Given the description of an element on the screen output the (x, y) to click on. 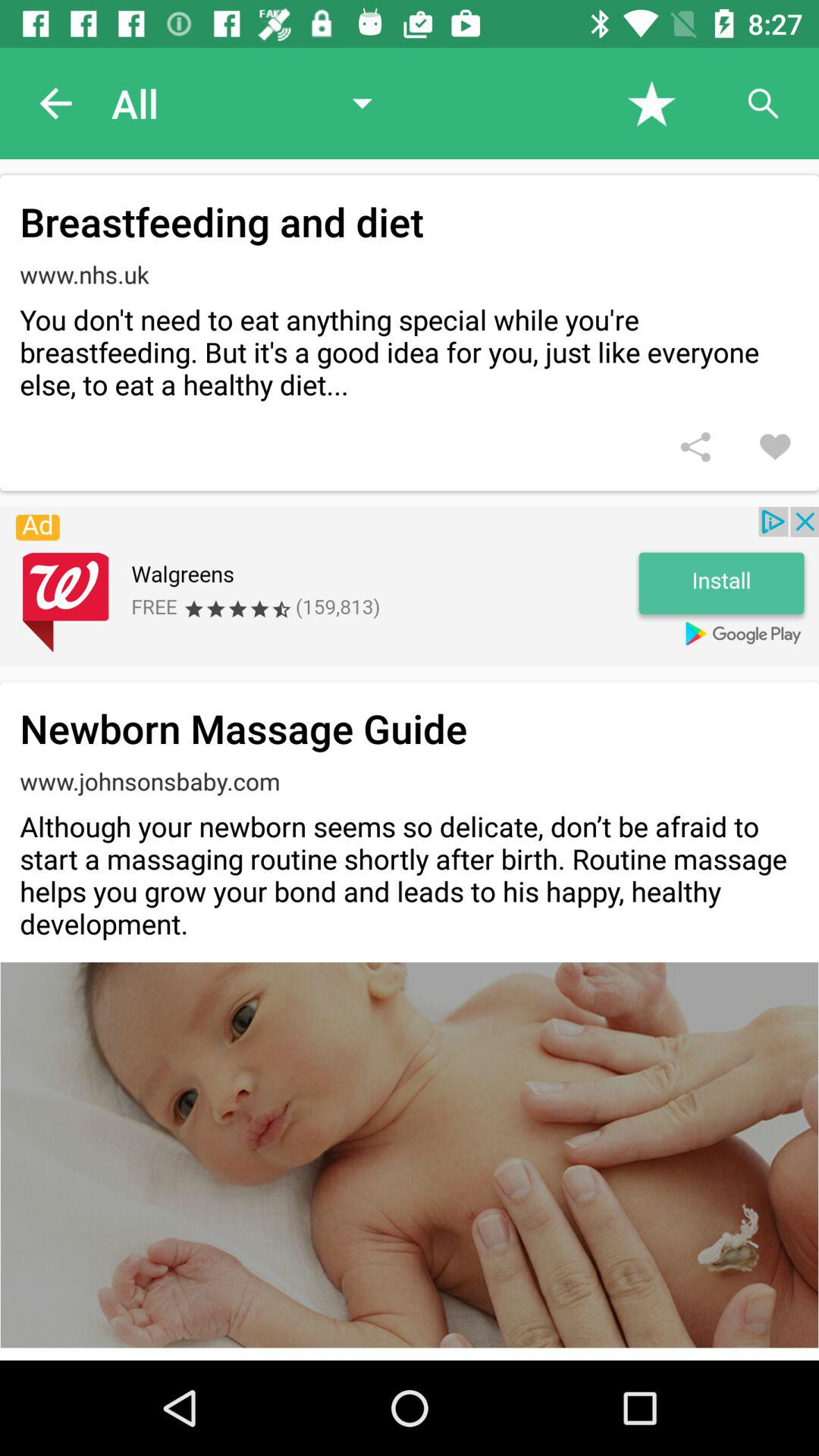
know about the advertisement (409, 586)
